Given the description of an element on the screen output the (x, y) to click on. 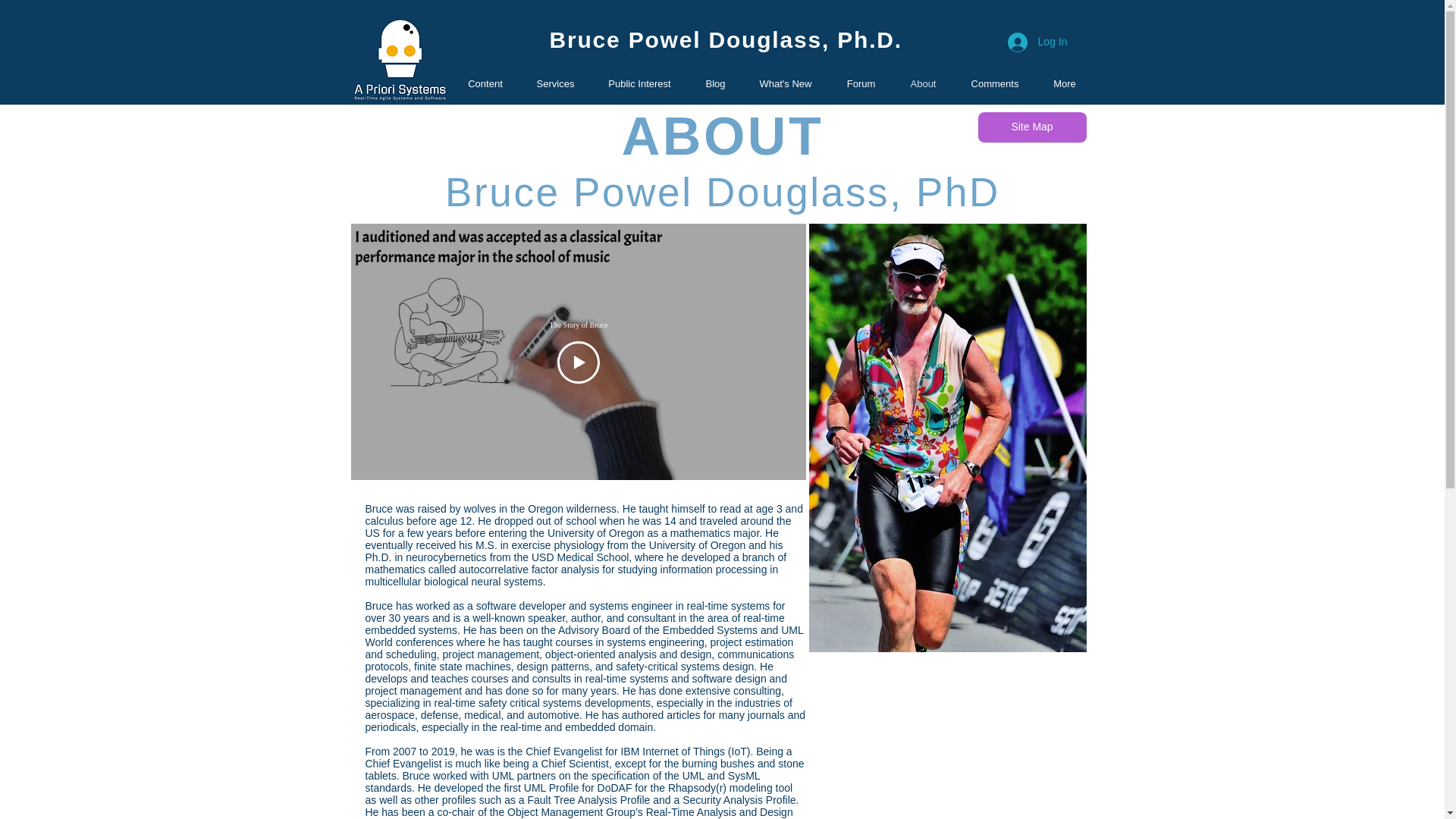
Smallwood-1 2013.jpg (947, 437)
Services (554, 83)
Bruce Powel Douglass, Ph.D. (724, 39)
Log In (1037, 41)
Site Map (1032, 127)
About (923, 83)
Forum (861, 83)
Public Interest (638, 83)
What's New (784, 83)
Content (485, 83)
The Story of Bruce (577, 324)
Comments (994, 83)
Blog (714, 83)
